Given the description of an element on the screen output the (x, y) to click on. 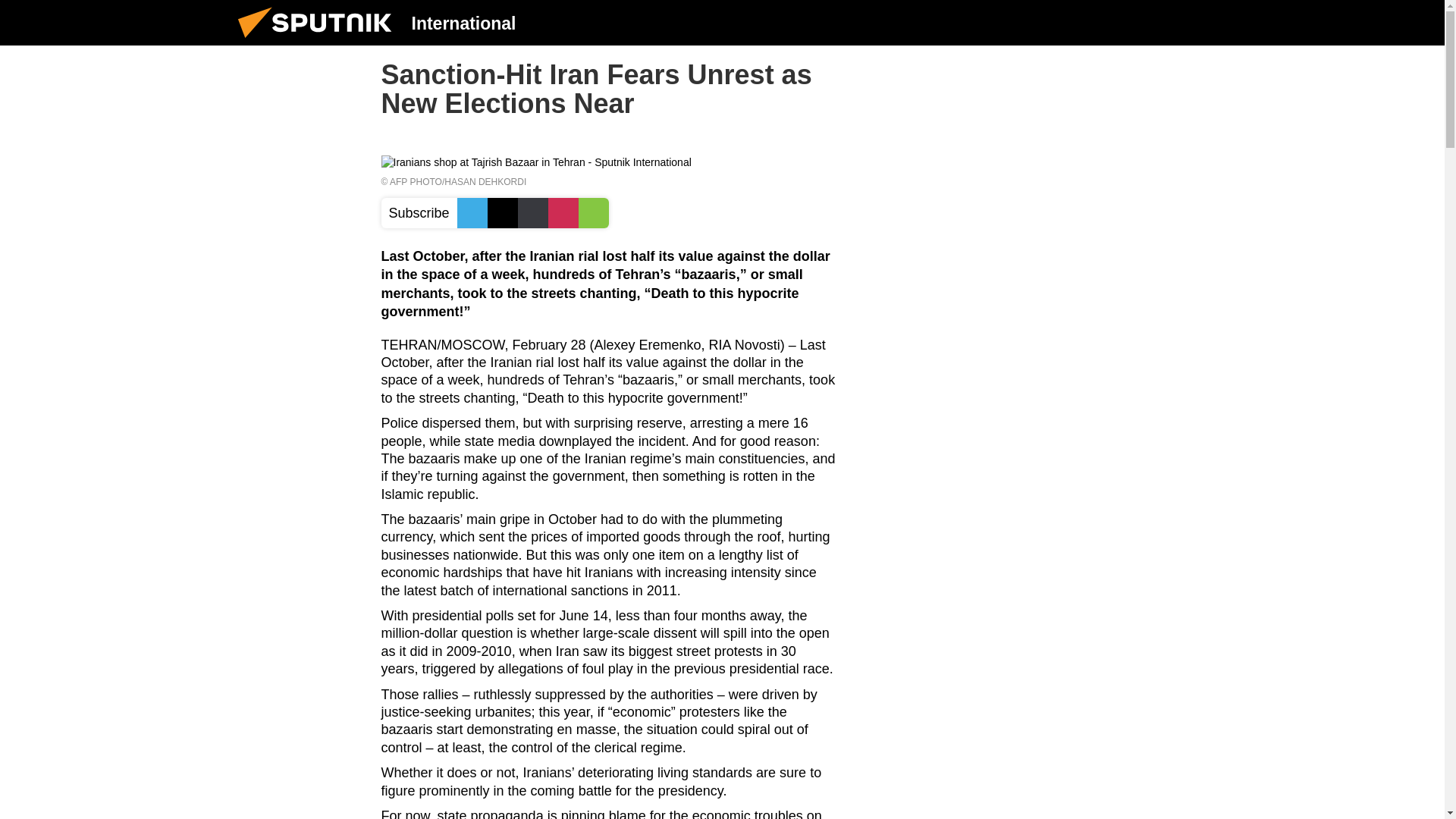
Sputnik International (319, 41)
Chats (1199, 22)
Authorization (1123, 22)
